Given the description of an element on the screen output the (x, y) to click on. 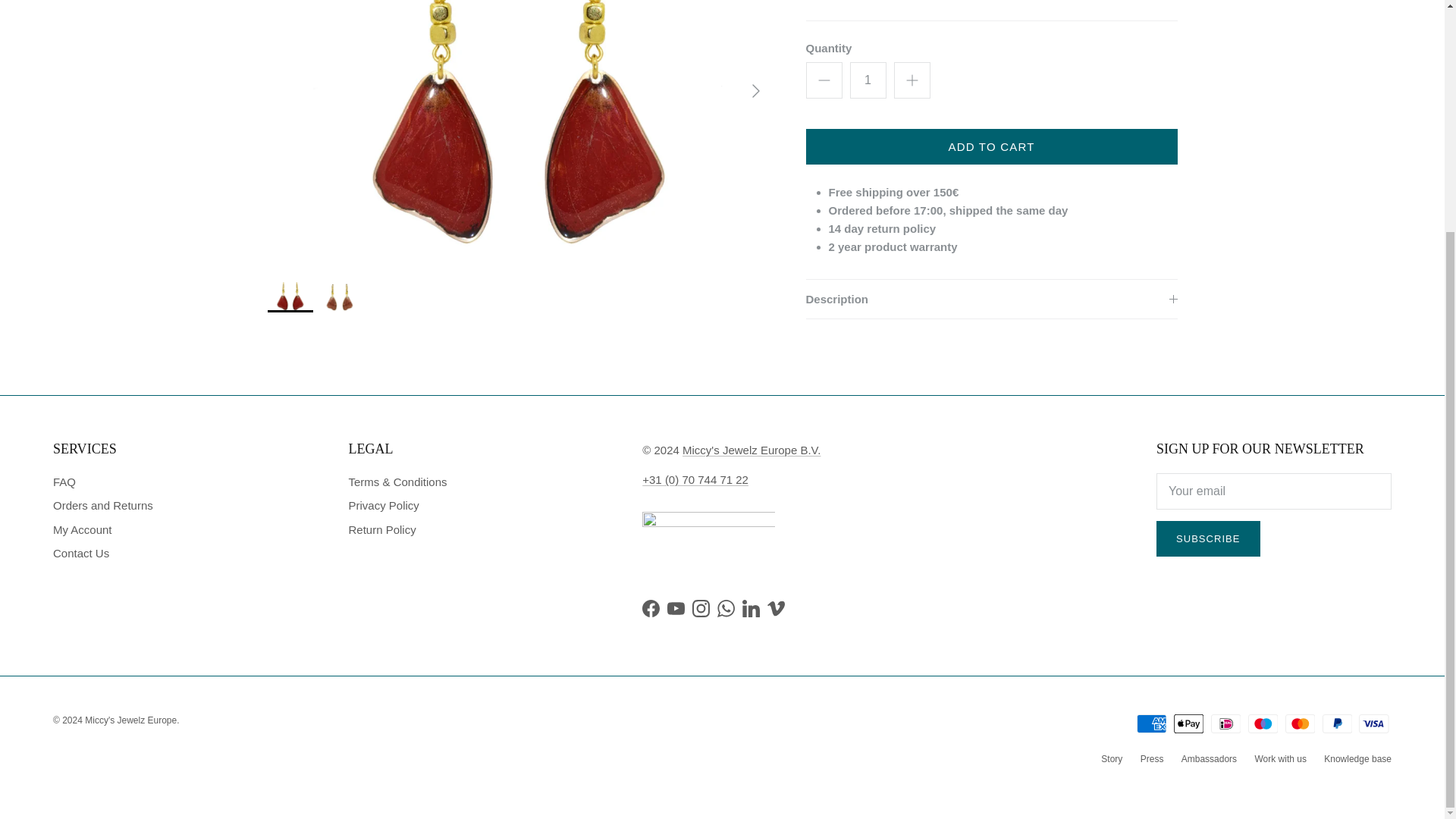
Miccy's Jewelz Europe on Instagram (701, 608)
Miccy's Jewelz Europe on Facebook (650, 608)
Miccy's Jewelz Europe on YouTube (675, 608)
Miccy's Jewelz Europe on WhatsApp (726, 608)
Miccy's Jewelz Europe on LinkedIn (751, 608)
Miccy's Jewelz Europe on Vimeo (775, 608)
1 (866, 80)
